Given the description of an element on the screen output the (x, y) to click on. 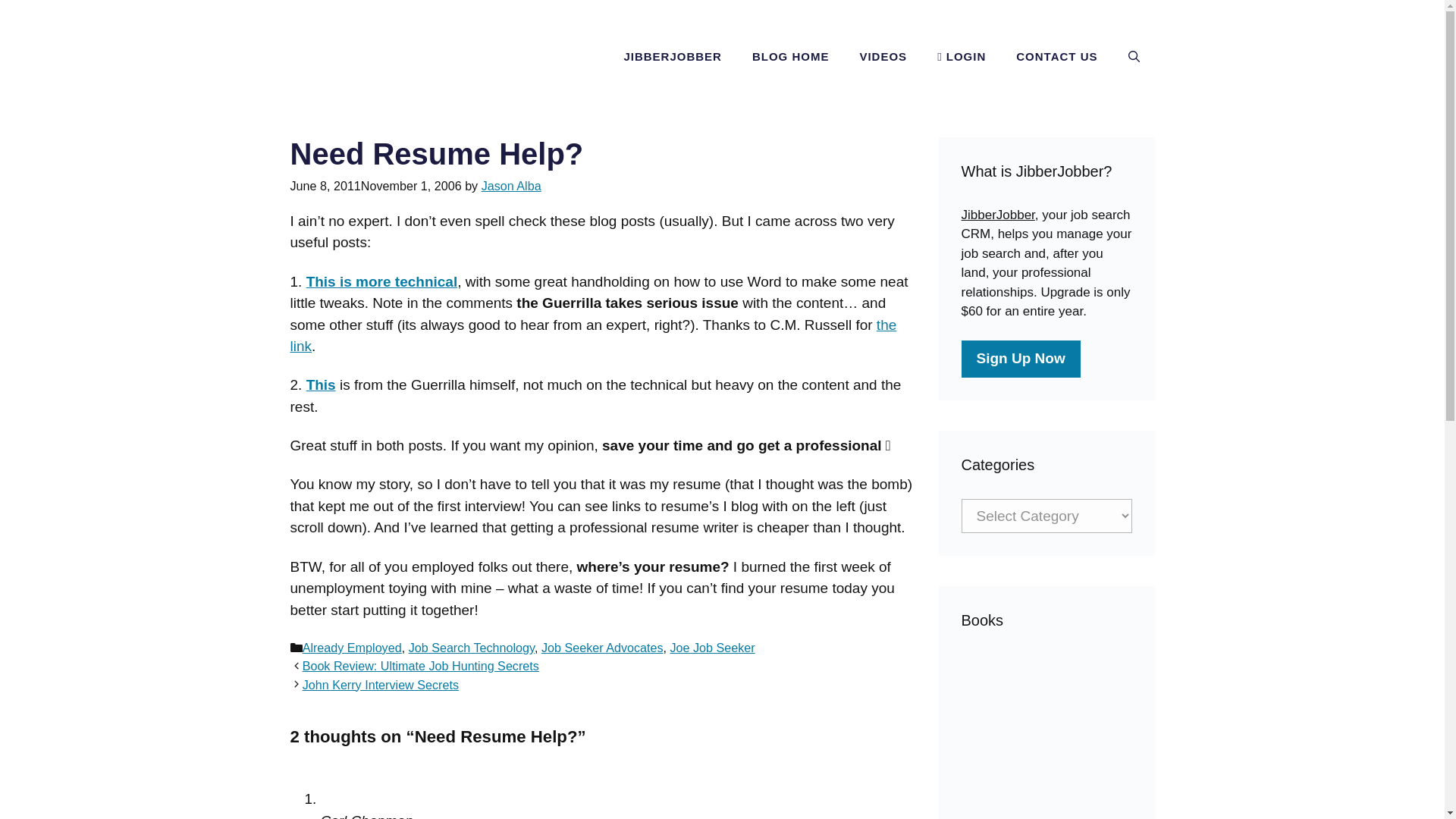
Already Employed (351, 647)
LifeClever - give your resume a facelift (381, 281)
Sign Up Now (1020, 358)
Next (380, 684)
BLOG HOME (790, 56)
Job Seeker Advocates (602, 647)
This is more technical (381, 281)
JIBBERJOBBER (672, 56)
View all posts by Jason Alba (511, 185)
JibberJobber Blog (421, 56)
JibberJobber (997, 214)
Book Review: Ultimate Job Hunting Secrets (420, 665)
This (320, 384)
Joe Job Seeker (712, 647)
CONTACT US (1056, 56)
